Given the description of an element on the screen output the (x, y) to click on. 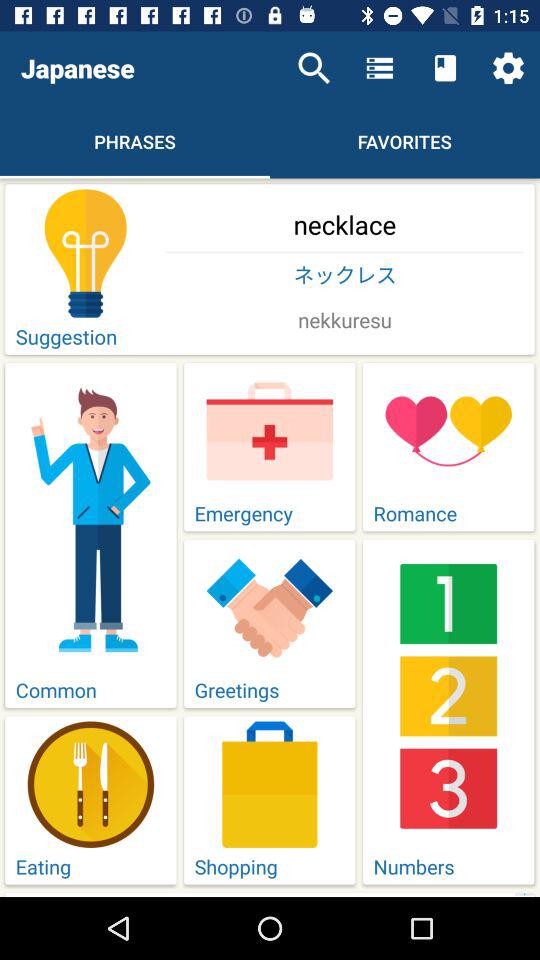
tap the icon above favorites (444, 67)
